Given the description of an element on the screen output the (x, y) to click on. 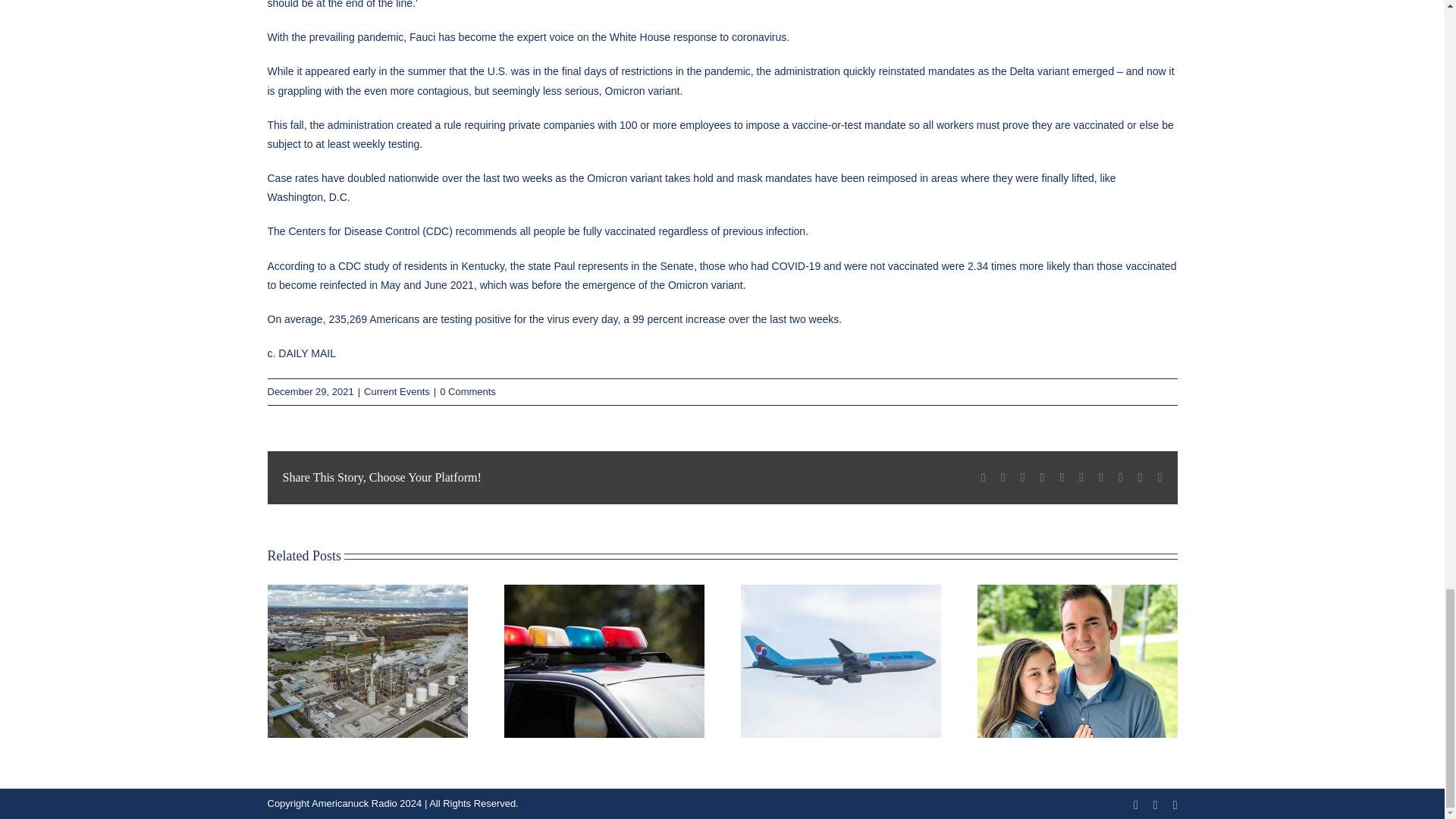
0 Comments (467, 391)
c. DAILY MAIL (301, 353)
Current Events (396, 391)
